Given the description of an element on the screen output the (x, y) to click on. 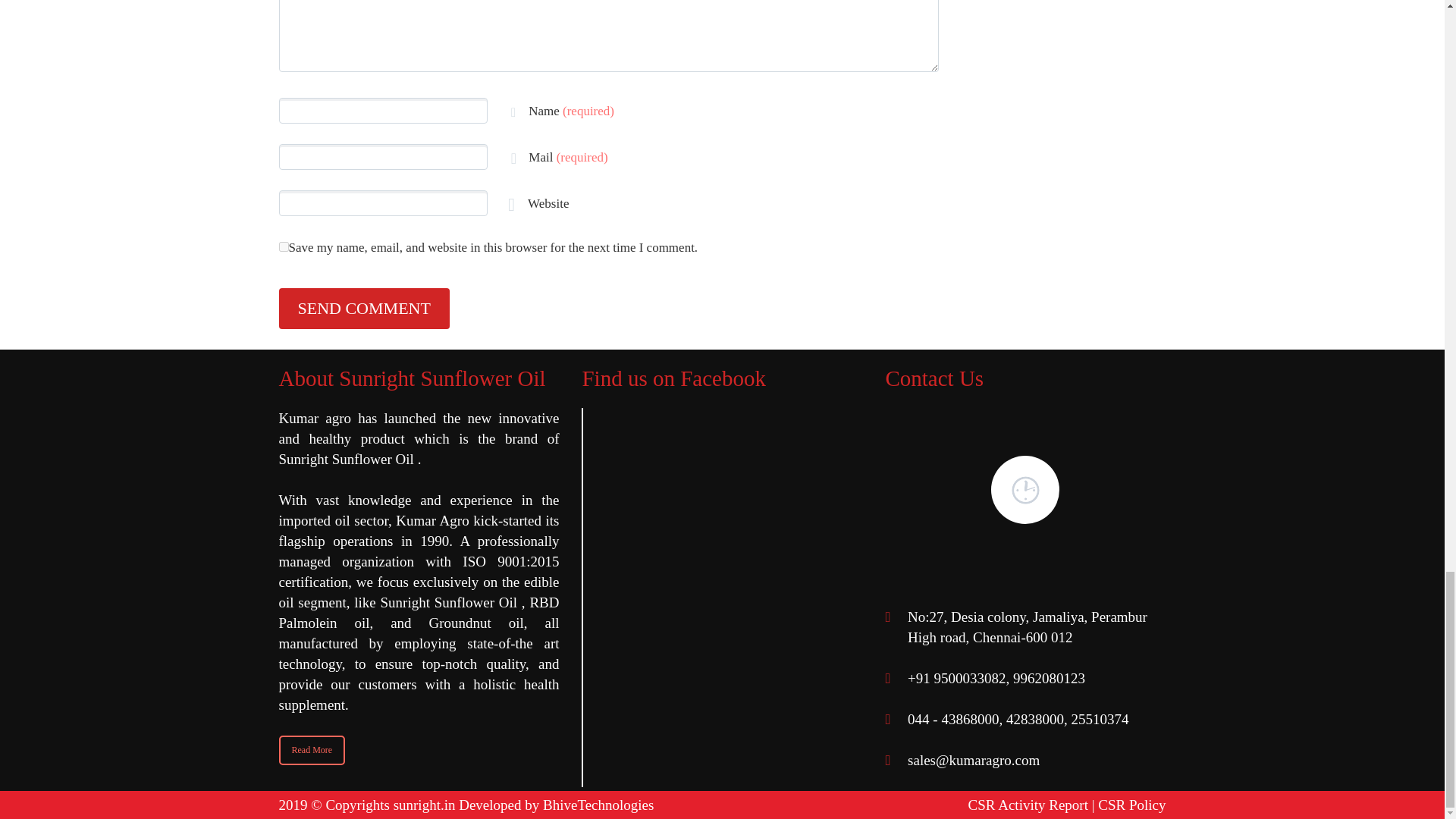
Send Comment (364, 308)
Send Comment (364, 308)
yes (283, 246)
